Given the description of an element on the screen output the (x, y) to click on. 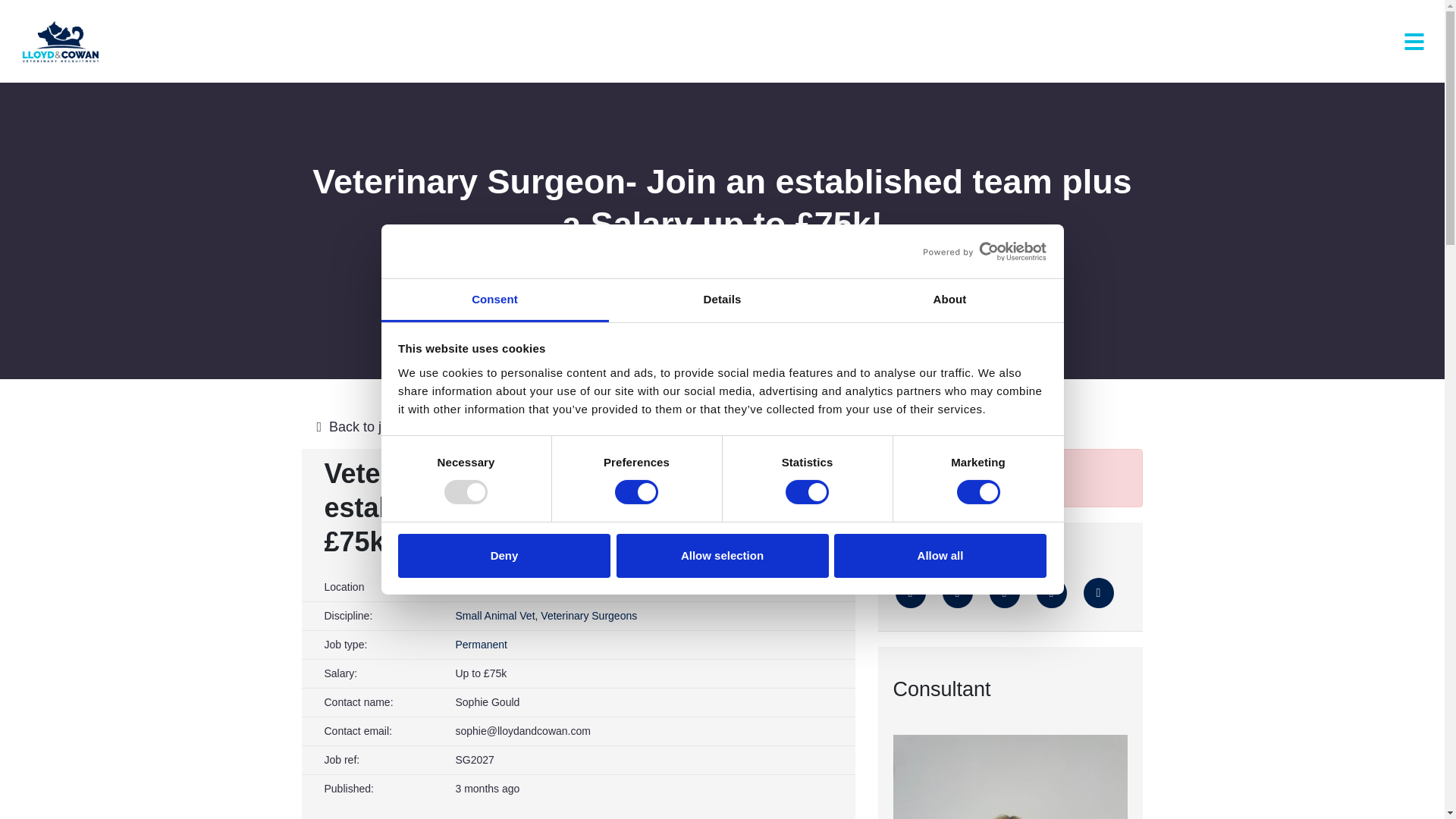
Allow all (940, 555)
Details (721, 300)
Email (1050, 593)
share on Facebook (957, 593)
share on LinkedIn (1003, 593)
Consent (494, 300)
Deny (503, 555)
Tweet this (909, 593)
About (948, 300)
send in Whatsapp (1098, 593)
Allow selection (721, 555)
